Given the description of an element on the screen output the (x, y) to click on. 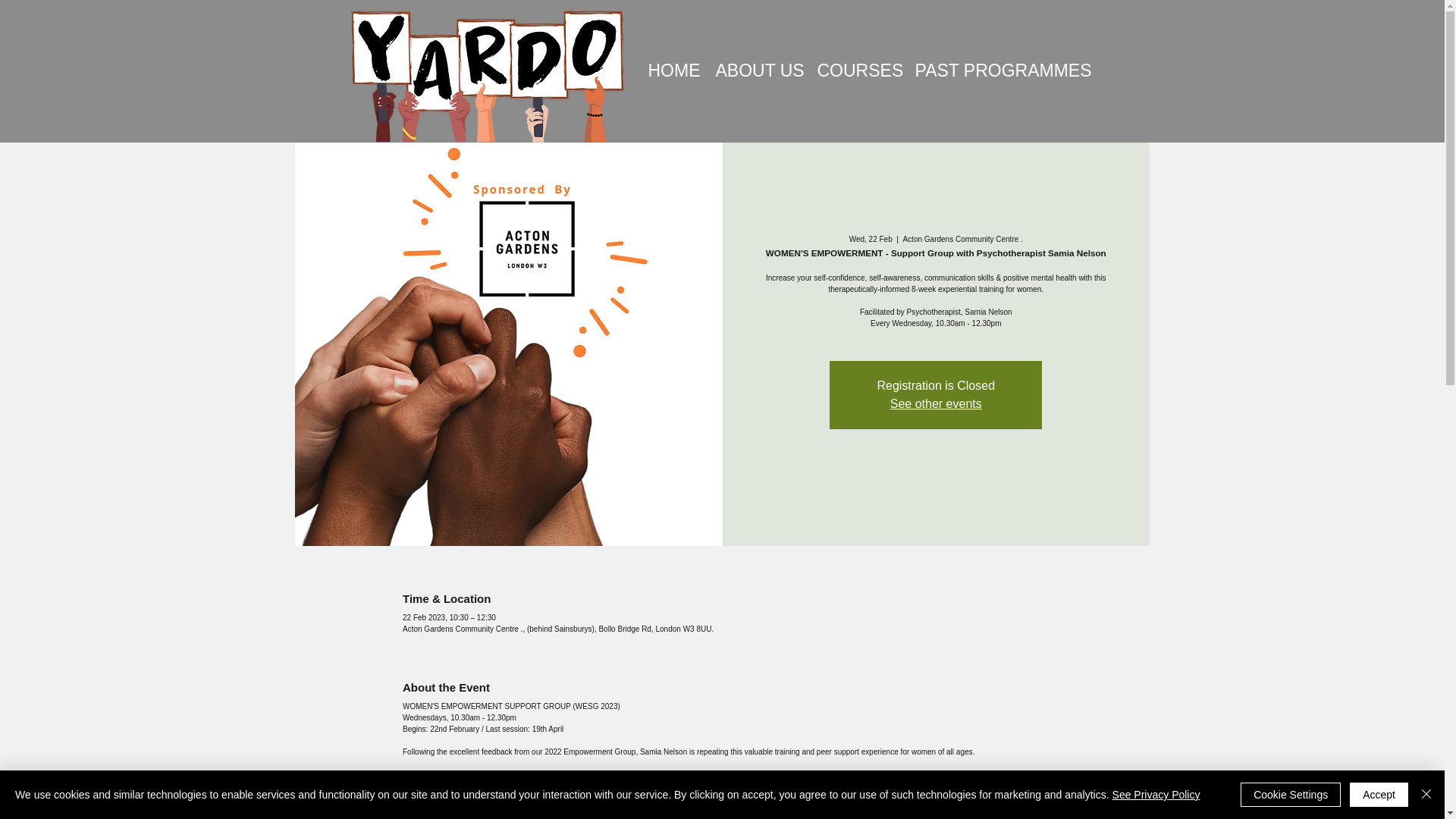
See Privacy Policy (1155, 794)
PAST PROGRAMMES (992, 70)
HOME (670, 70)
Accept (1378, 794)
See other events (935, 403)
Cookie Settings (1290, 794)
ABOUT US (754, 70)
COURSES (853, 70)
